Given the description of an element on the screen output the (x, y) to click on. 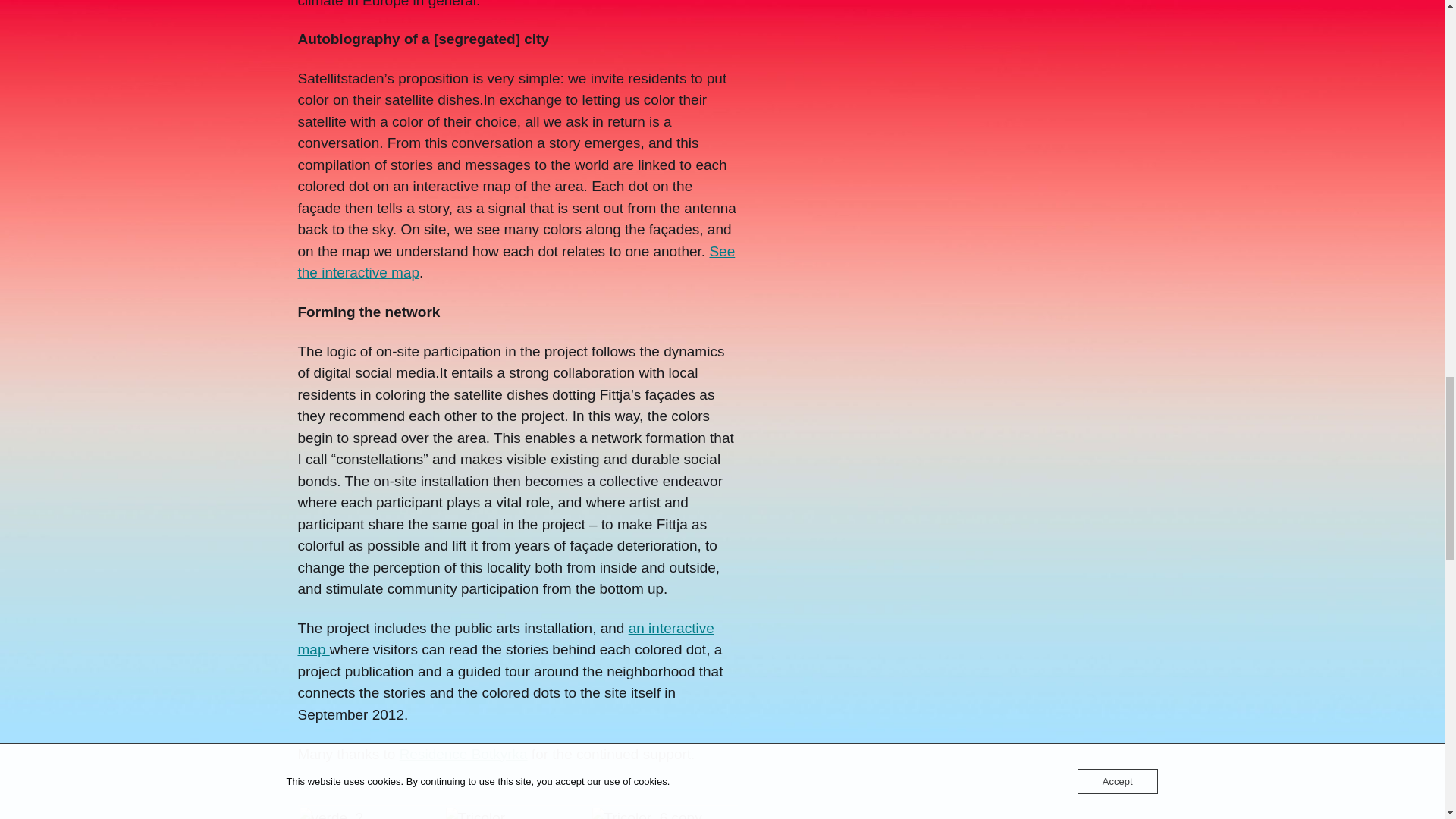
an interactive map (505, 638)
See the interactive map (516, 262)
Tricolor (517, 813)
Residence Botkyrka (462, 754)
